Given the description of an element on the screen output the (x, y) to click on. 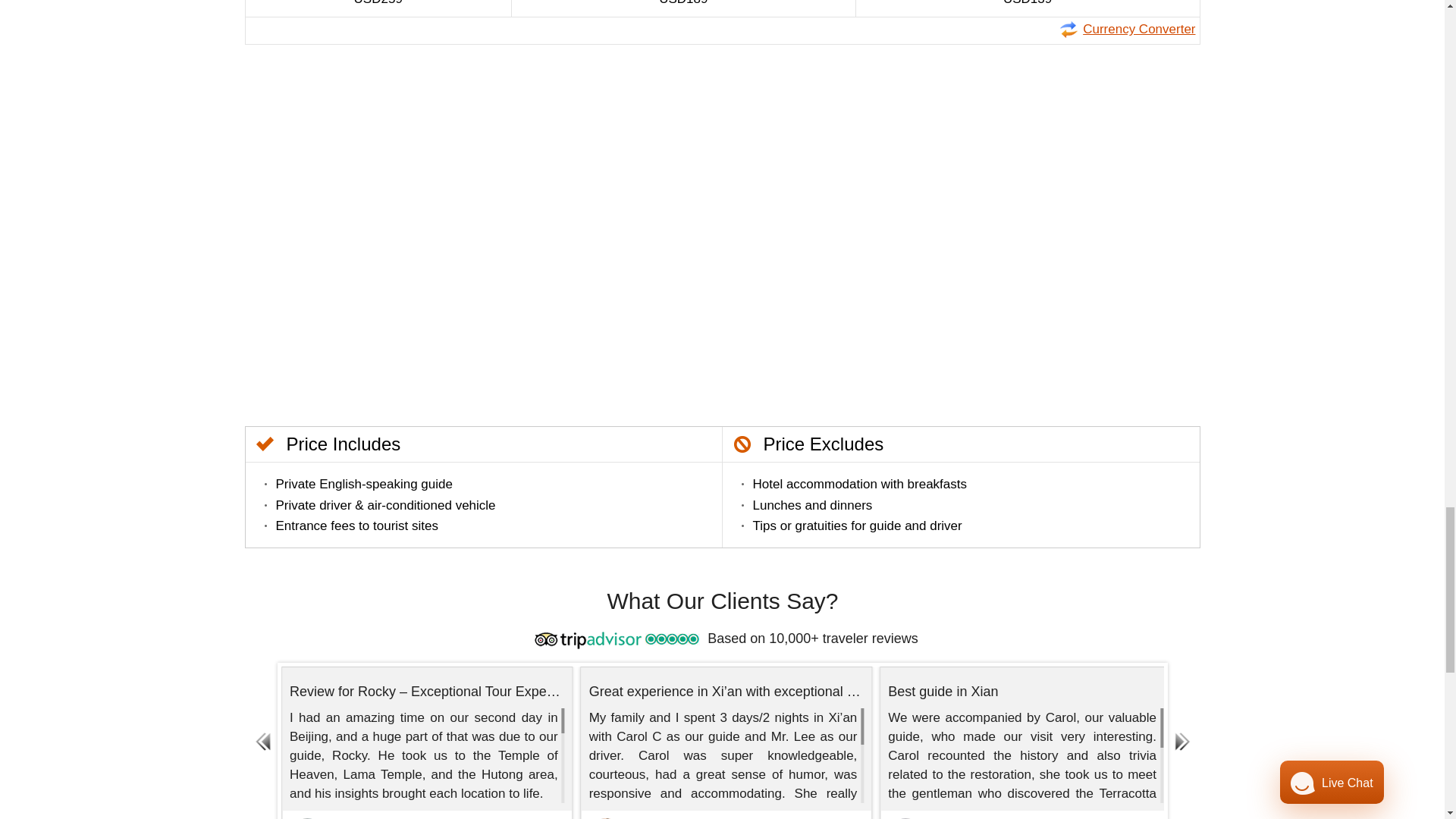
Currency Converter (1127, 29)
